Given the description of an element on the screen output the (x, y) to click on. 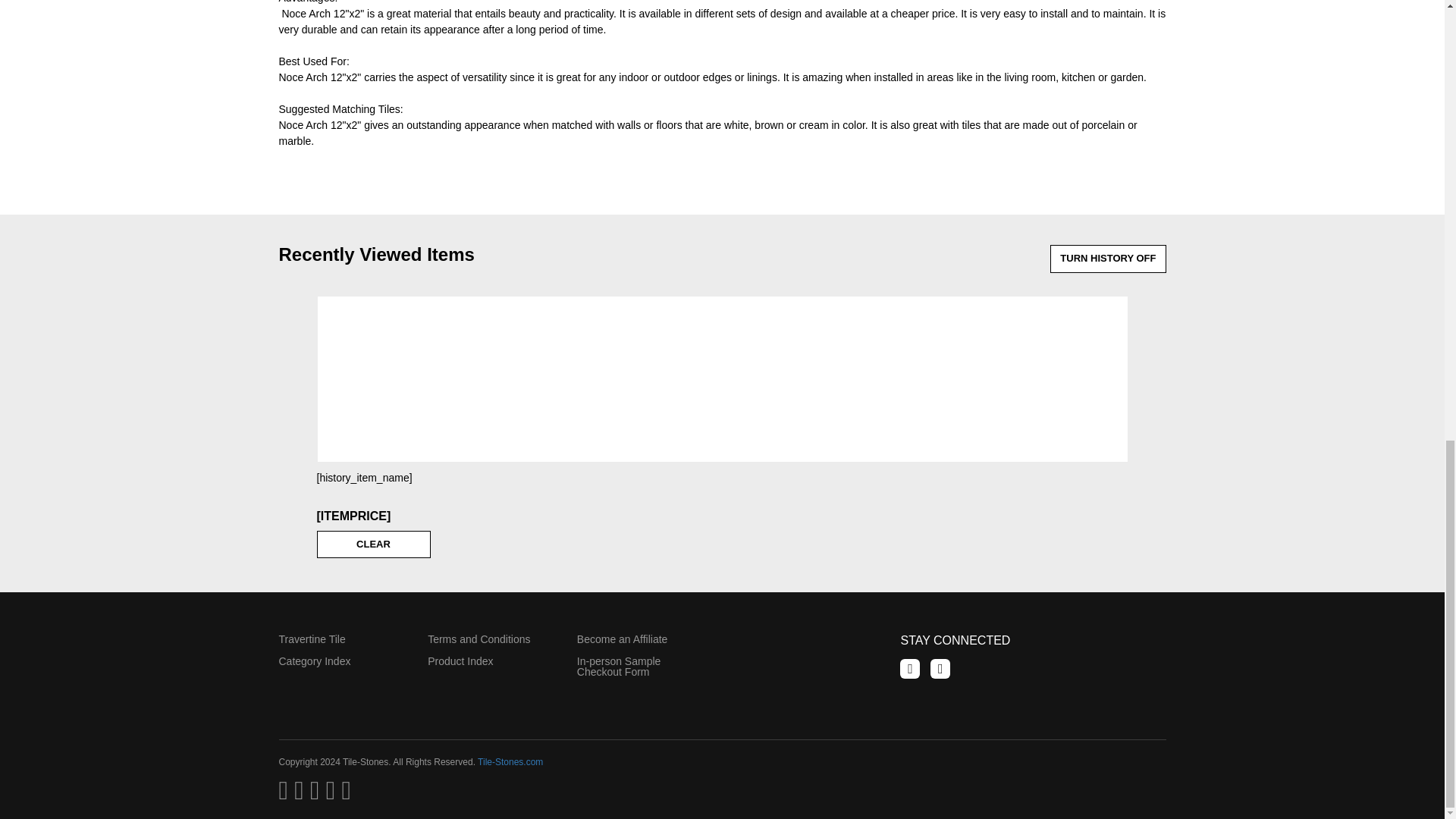
Like Us on Facebook (909, 668)
Follow Us on Pinterest (940, 668)
